Given the description of an element on the screen output the (x, y) to click on. 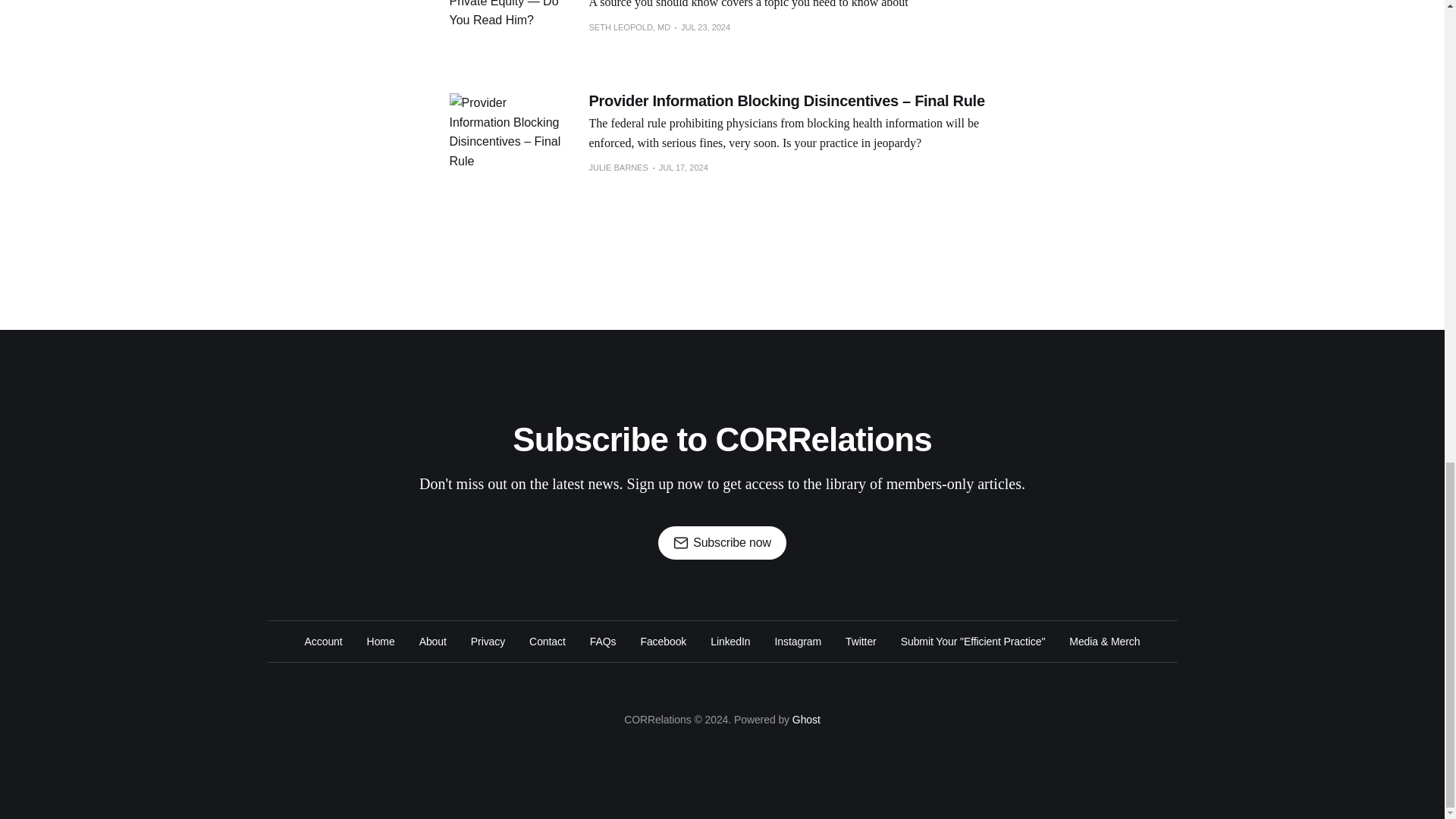
Account (323, 641)
Ghost (806, 719)
LinkedIn (729, 641)
Facebook (662, 641)
Home (380, 641)
Instagram (798, 641)
Subscribe now (722, 542)
Submit Your "Efficient Practice" (973, 641)
Contact (547, 641)
FAQs (602, 641)
Twitter (860, 641)
Privacy (487, 641)
About (432, 641)
